Given the description of an element on the screen output the (x, y) to click on. 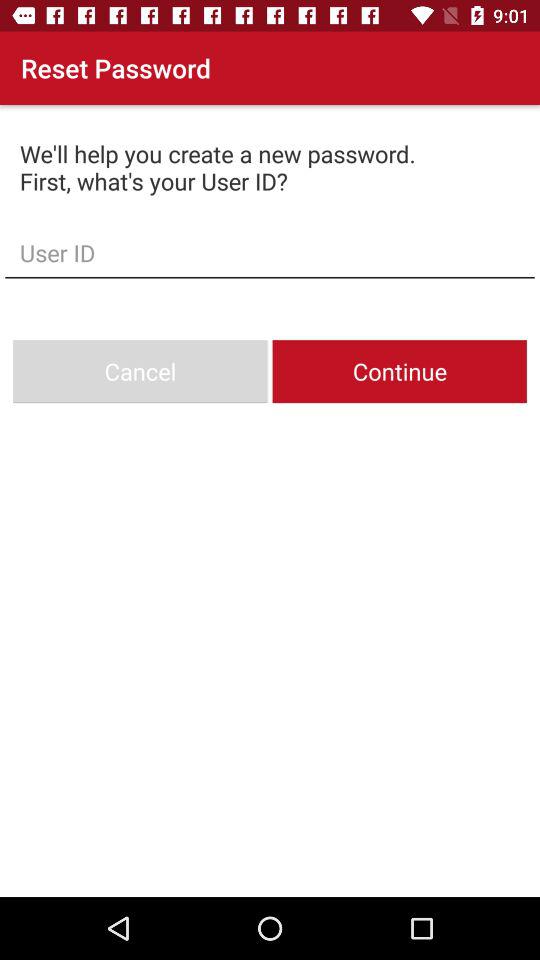
jump until the cancel icon (140, 371)
